Given the description of an element on the screen output the (x, y) to click on. 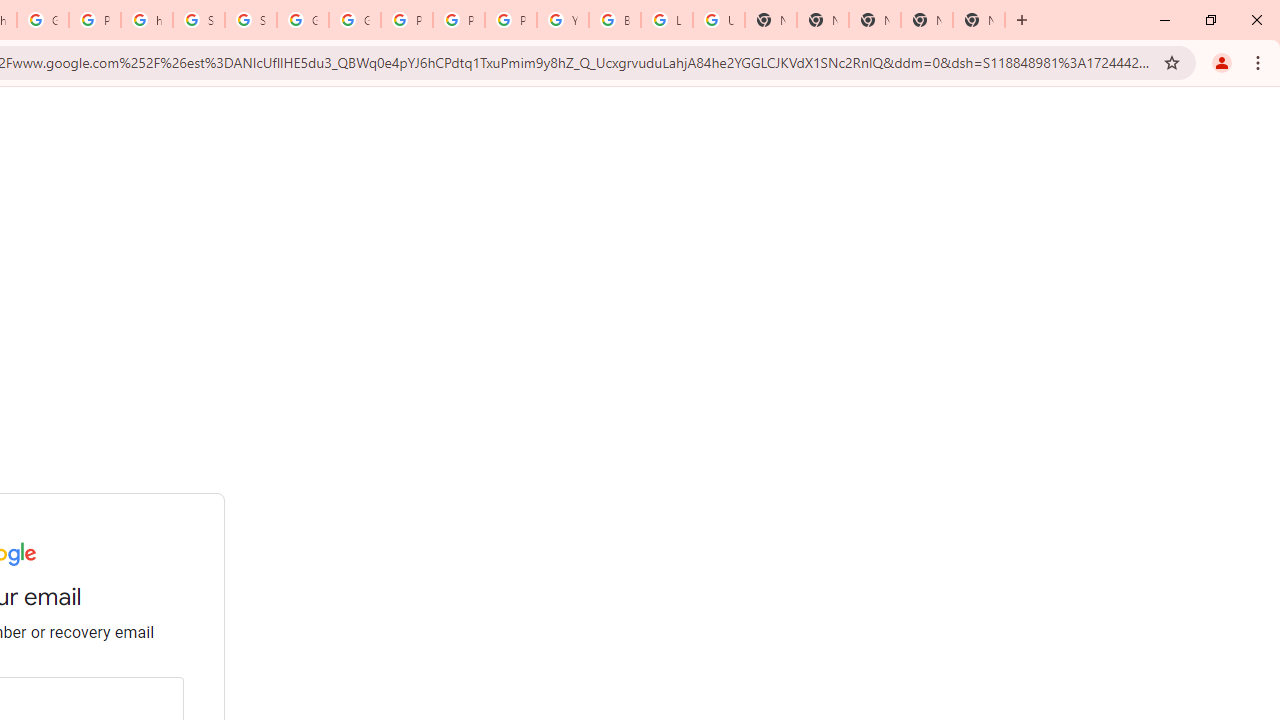
Browse Chrome as a guest - Computer - Google Chrome Help (614, 20)
New Tab (874, 20)
https://scholar.google.com/ (146, 20)
YouTube (562, 20)
